Given the description of an element on the screen output the (x, y) to click on. 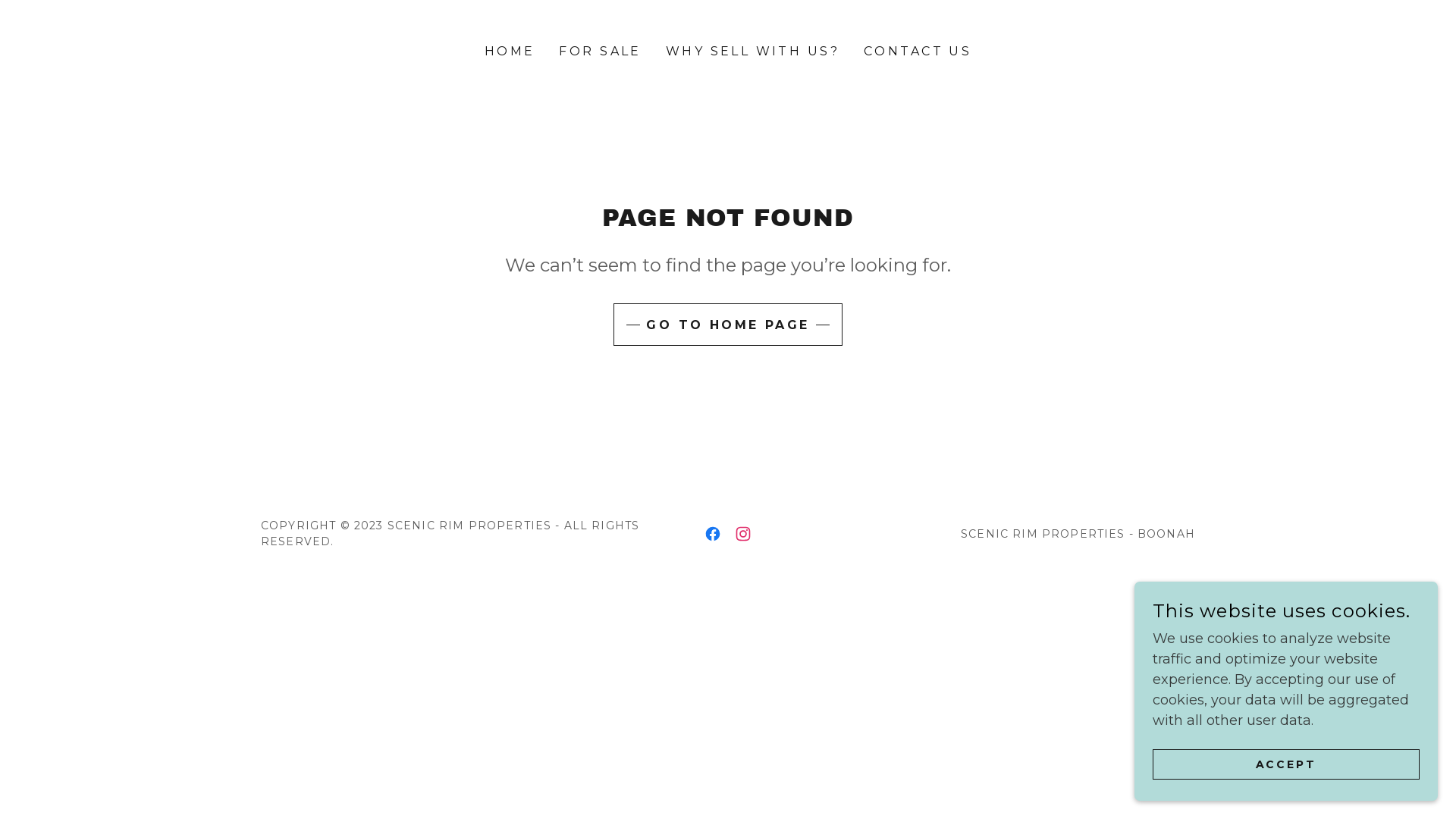
GO TO HOME PAGE Element type: text (727, 324)
CONTACT US Element type: text (917, 51)
HOME Element type: text (509, 51)
WHY SELL WITH US? Element type: text (752, 51)
ACCEPT Element type: text (1285, 764)
FOR SALE Element type: text (599, 51)
